Given the description of an element on the screen output the (x, y) to click on. 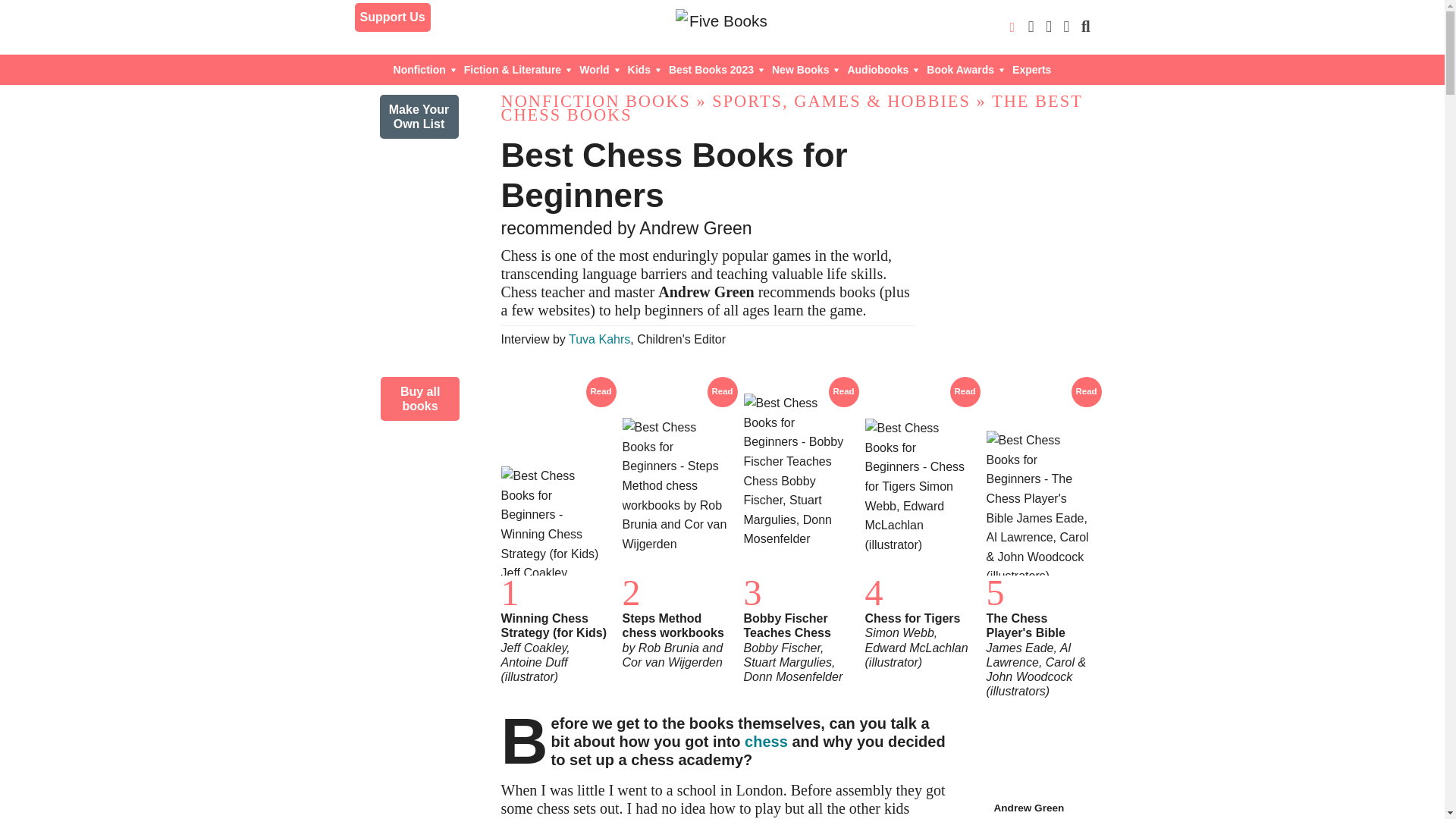
Nonfiction (425, 69)
Support Us (392, 17)
